Given the description of an element on the screen output the (x, y) to click on. 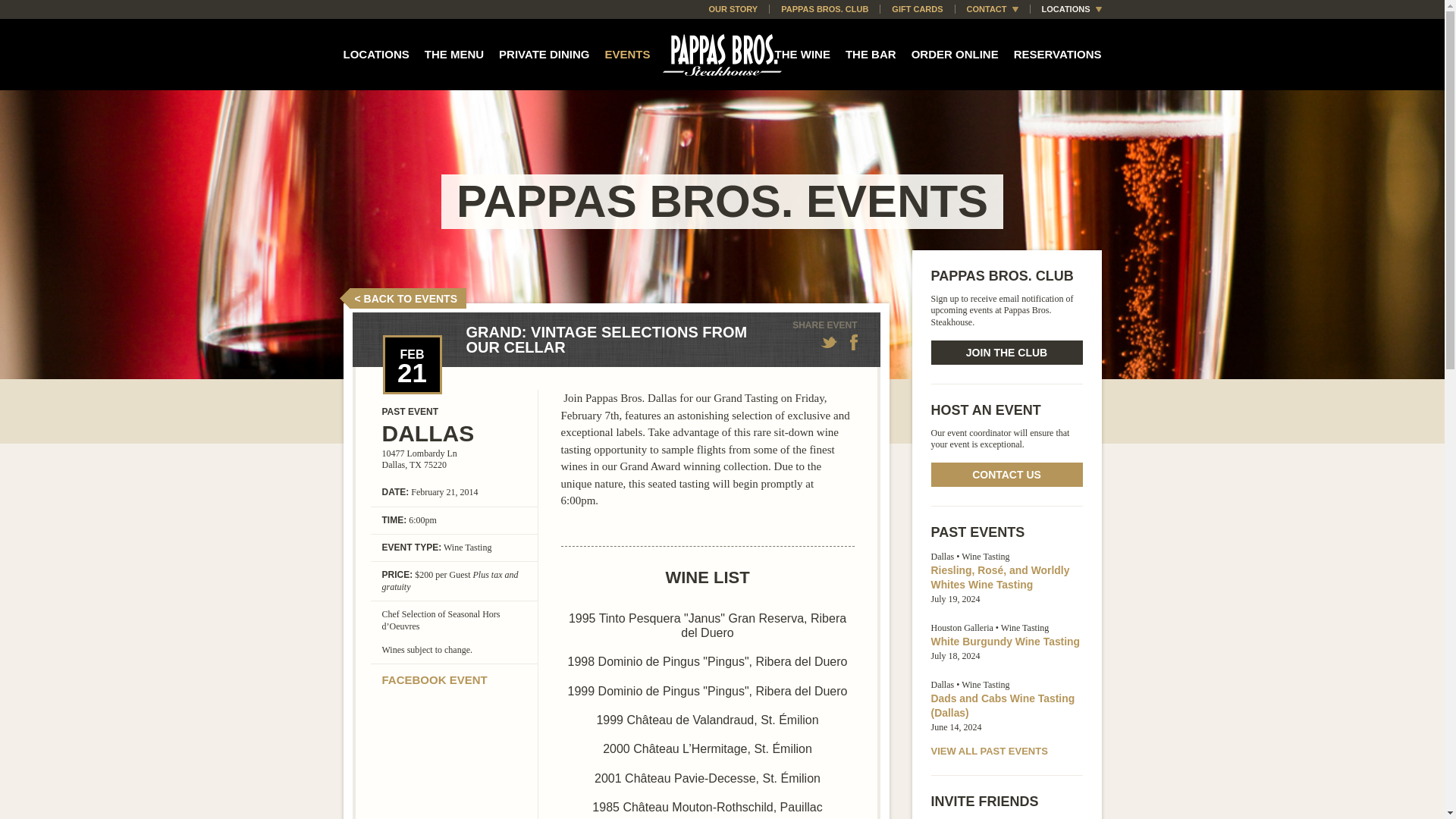
RESERVATIONS (1057, 53)
THE BAR (870, 53)
ORDER ONLINE (954, 53)
White Burgundy Wine Tasting (1005, 641)
VIEW ALL PAST EVENTS (989, 750)
OUR STORY (732, 8)
CONTACT (986, 8)
PAPPAS BROS. CLUB (823, 8)
FACEBOOK EVENT (434, 679)
LOCATIONS (1059, 8)
